Given the description of an element on the screen output the (x, y) to click on. 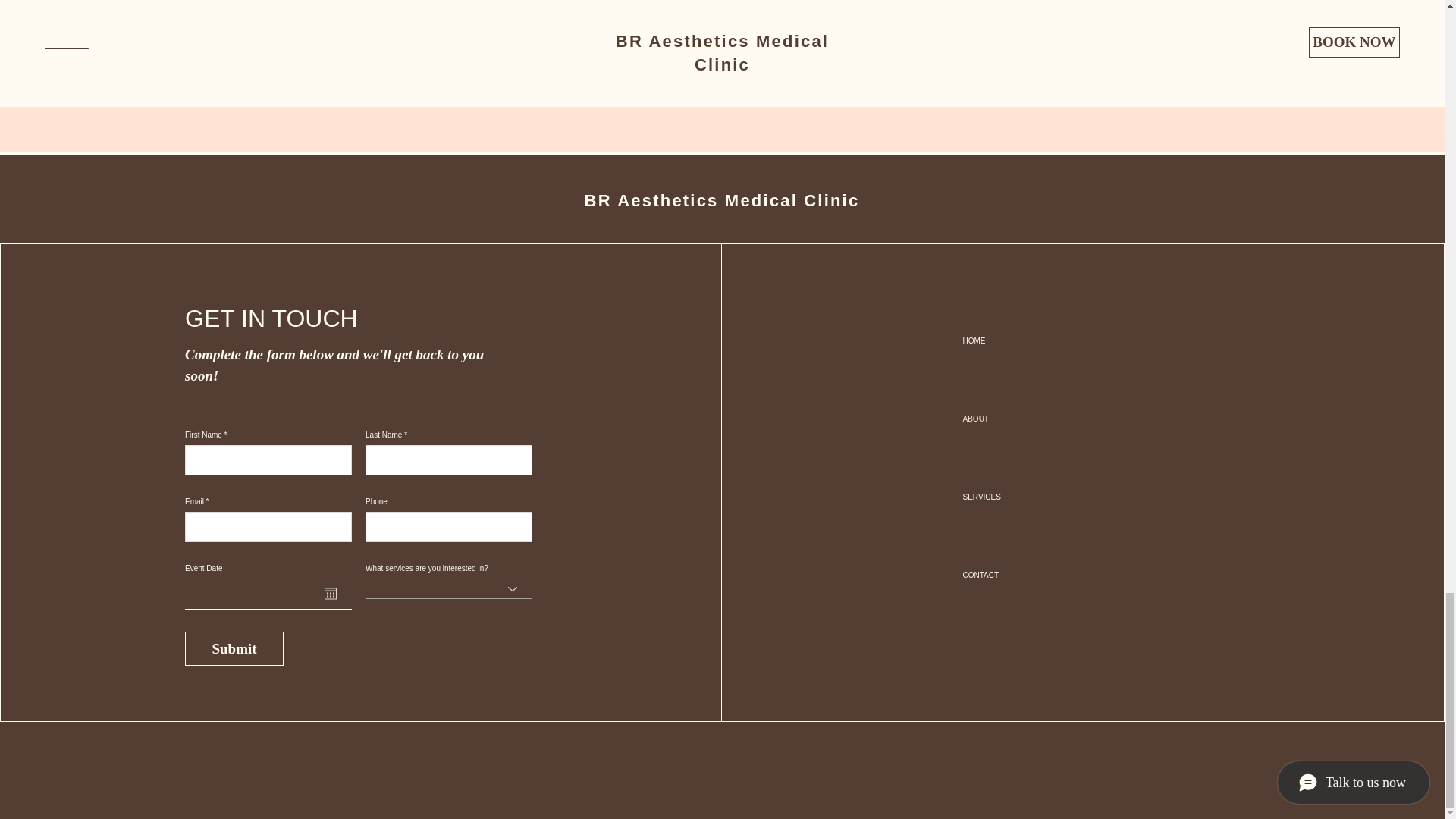
CONTACT (1016, 575)
SERVICES (1016, 496)
ABOUT (1016, 418)
Submit (233, 648)
BR Aesthetics Medical Clinic (722, 199)
HOME (1016, 341)
